Given the description of an element on the screen output the (x, y) to click on. 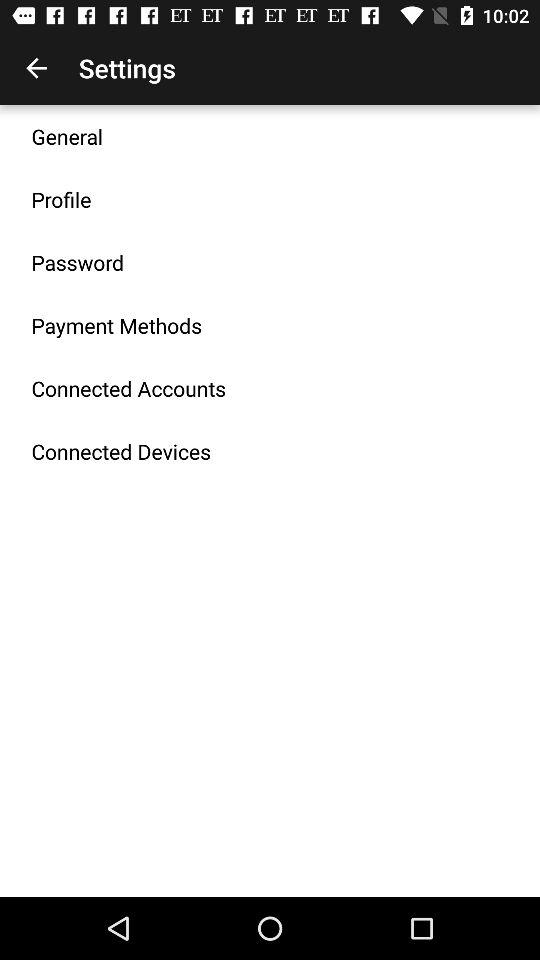
turn on item below the profile (77, 262)
